Given the description of an element on the screen output the (x, y) to click on. 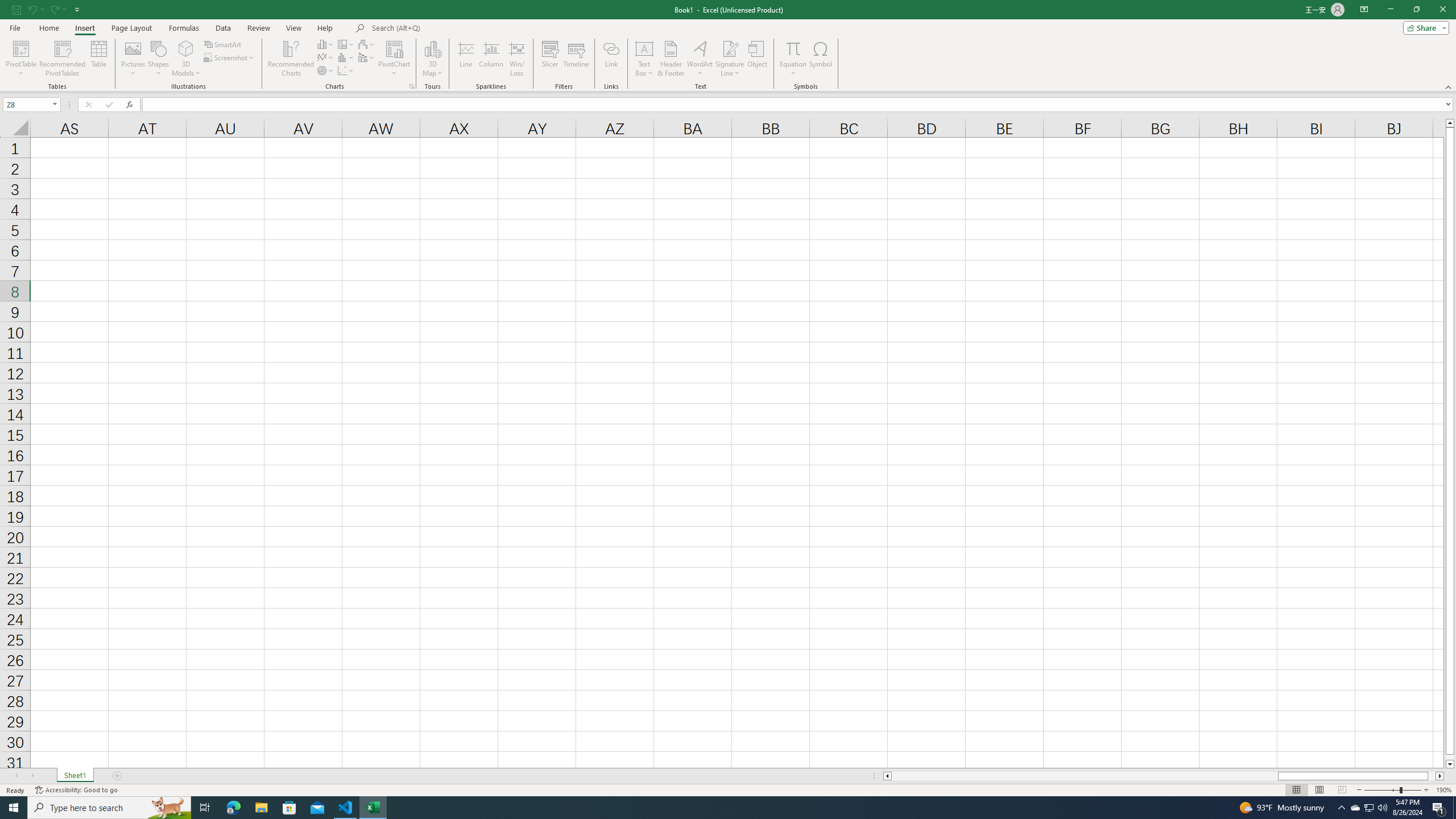
Insert Scatter (X, Y) or Bubble Chart (346, 69)
Signature Line (729, 48)
Timeline (575, 58)
Object... (757, 58)
Slicer... (550, 58)
Symbol... (821, 58)
Text Box (643, 58)
Win/Loss (516, 58)
Signature Line (729, 58)
